Given the description of an element on the screen output the (x, y) to click on. 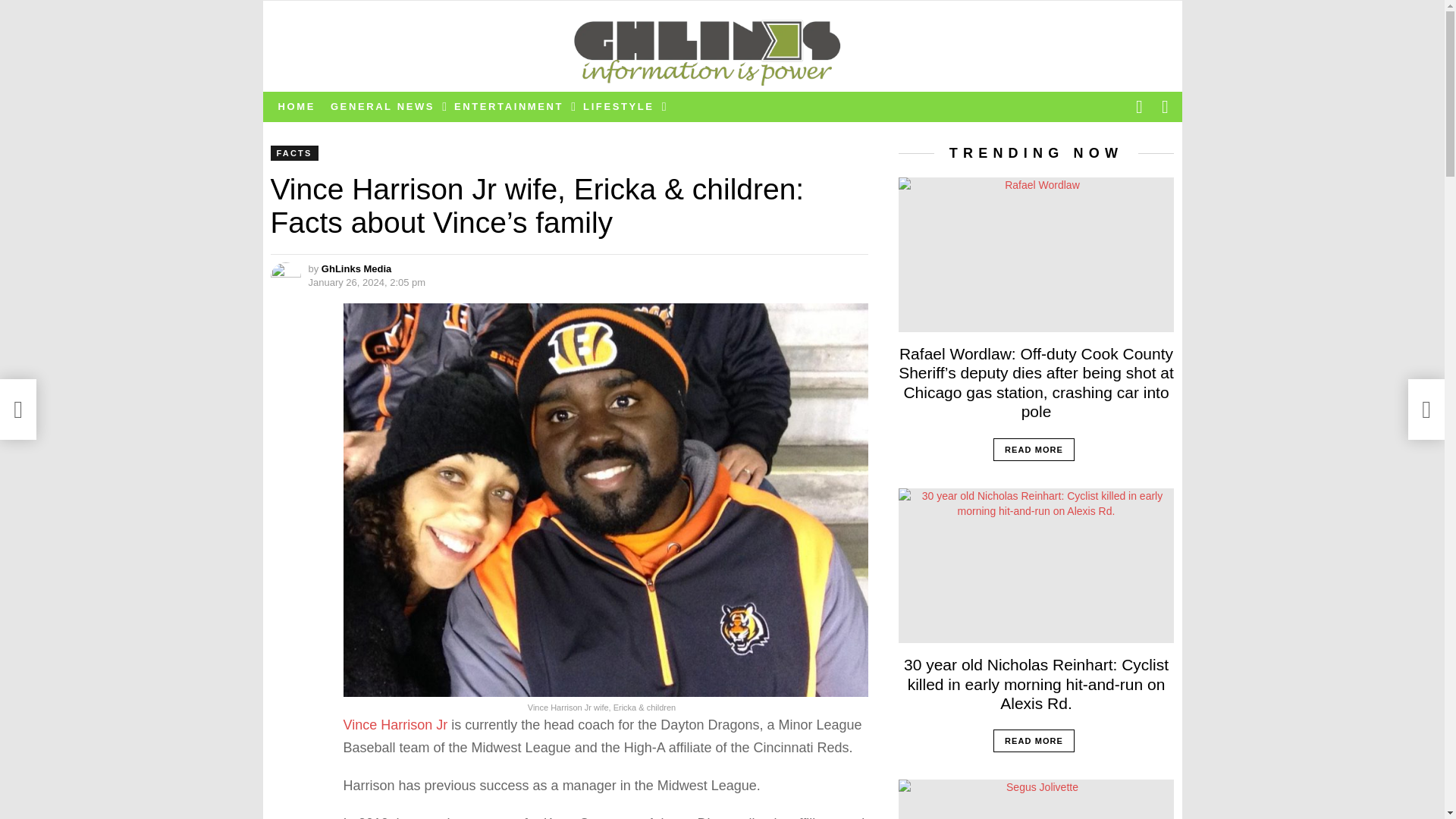
HOME (295, 106)
GhLinks Media (356, 268)
ENTERTAINMENT (510, 106)
FACTS (293, 152)
Posts by GhLinks Media (356, 268)
GENERAL NEWS (384, 106)
Vince Harrison Jr (394, 724)
LIFESTYLE (620, 106)
